Given the description of an element on the screen output the (x, y) to click on. 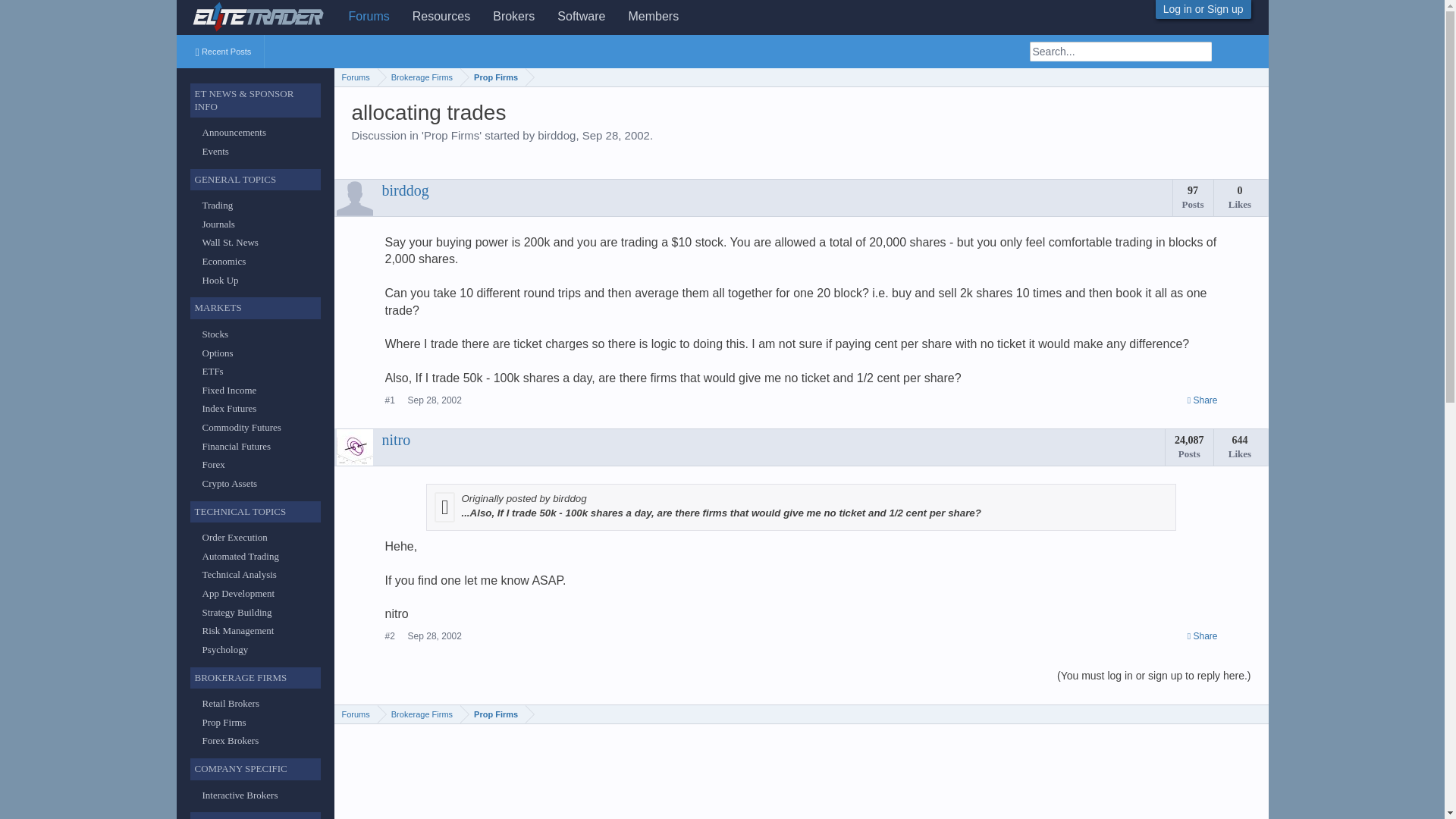
Options (217, 352)
Stocks (215, 333)
Risk Management (237, 630)
Permalink (1202, 400)
Permalink (434, 399)
Permalink (1202, 636)
Psychology (224, 649)
Announcements (233, 132)
Fixed Income (229, 389)
Forex (213, 464)
